Given the description of an element on the screen output the (x, y) to click on. 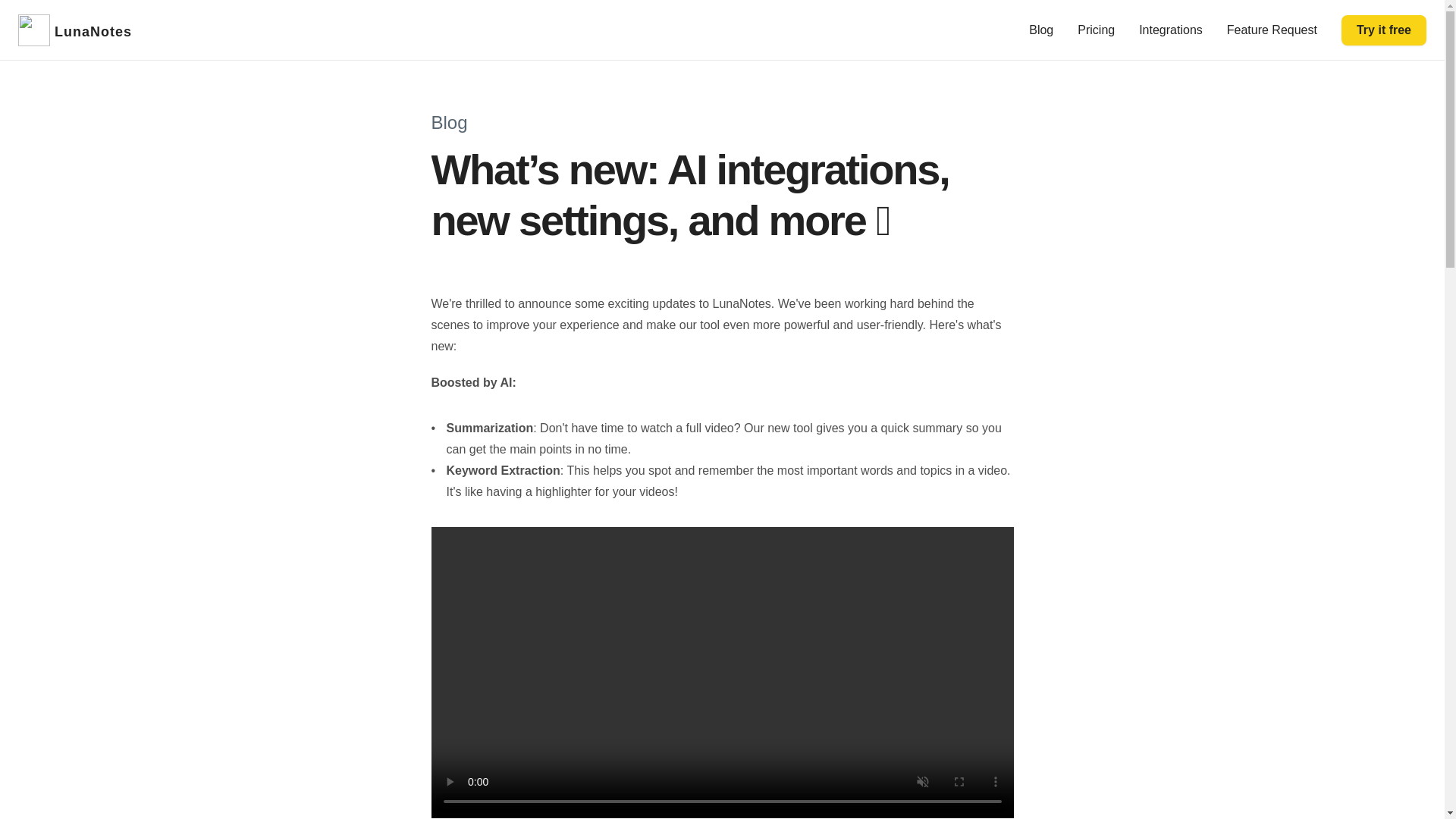
Blog (1040, 30)
Pricing (1096, 30)
Feature Request (1272, 30)
Try it free (1383, 30)
LunaNotes (74, 30)
Integrations (1170, 30)
